Given the description of an element on the screen output the (x, y) to click on. 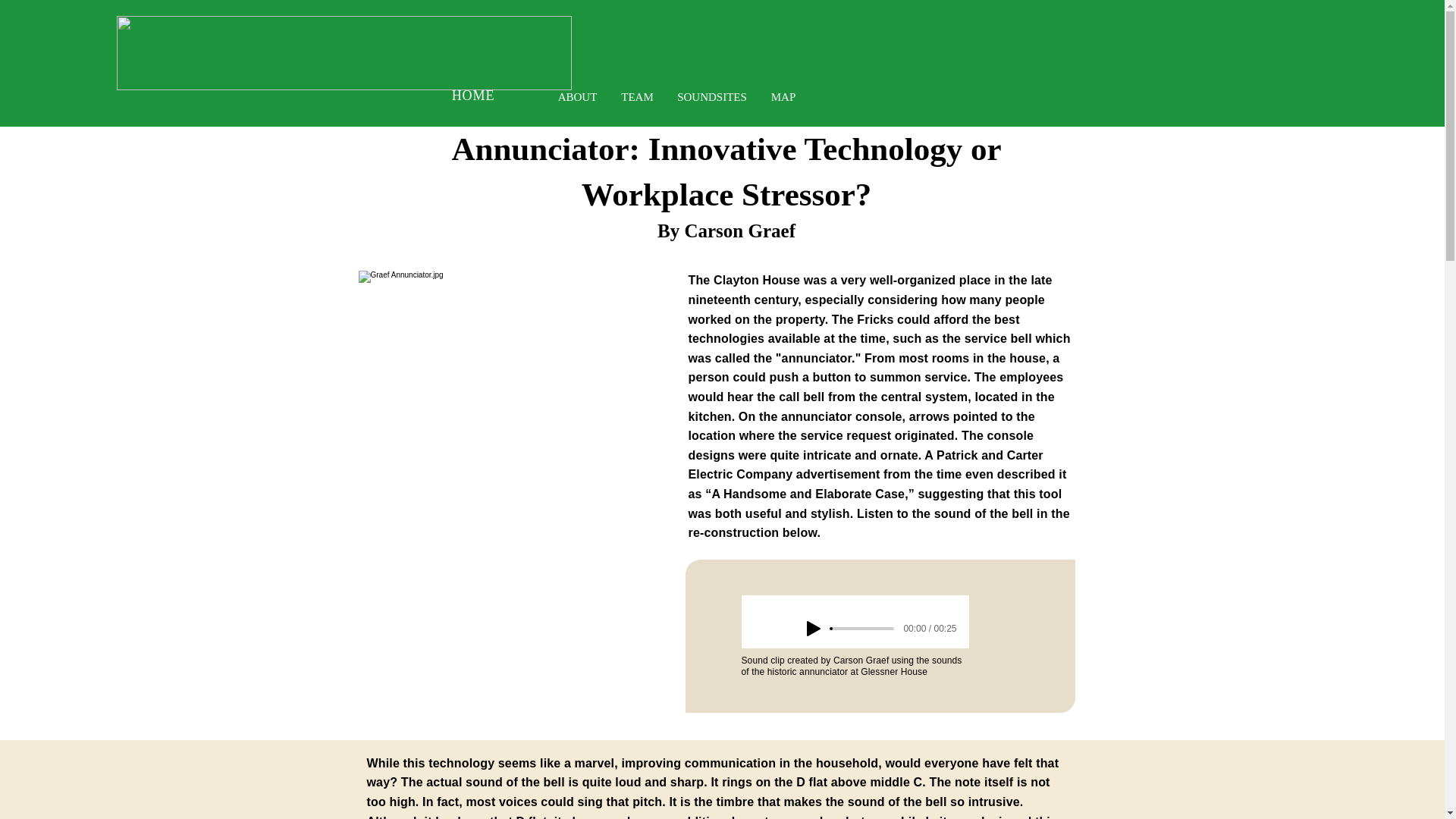
HOME (473, 95)
SOUNDSITES (711, 96)
MAP (783, 96)
0 (863, 628)
ABOUT (577, 96)
TEAM (637, 96)
